Given the description of an element on the screen output the (x, y) to click on. 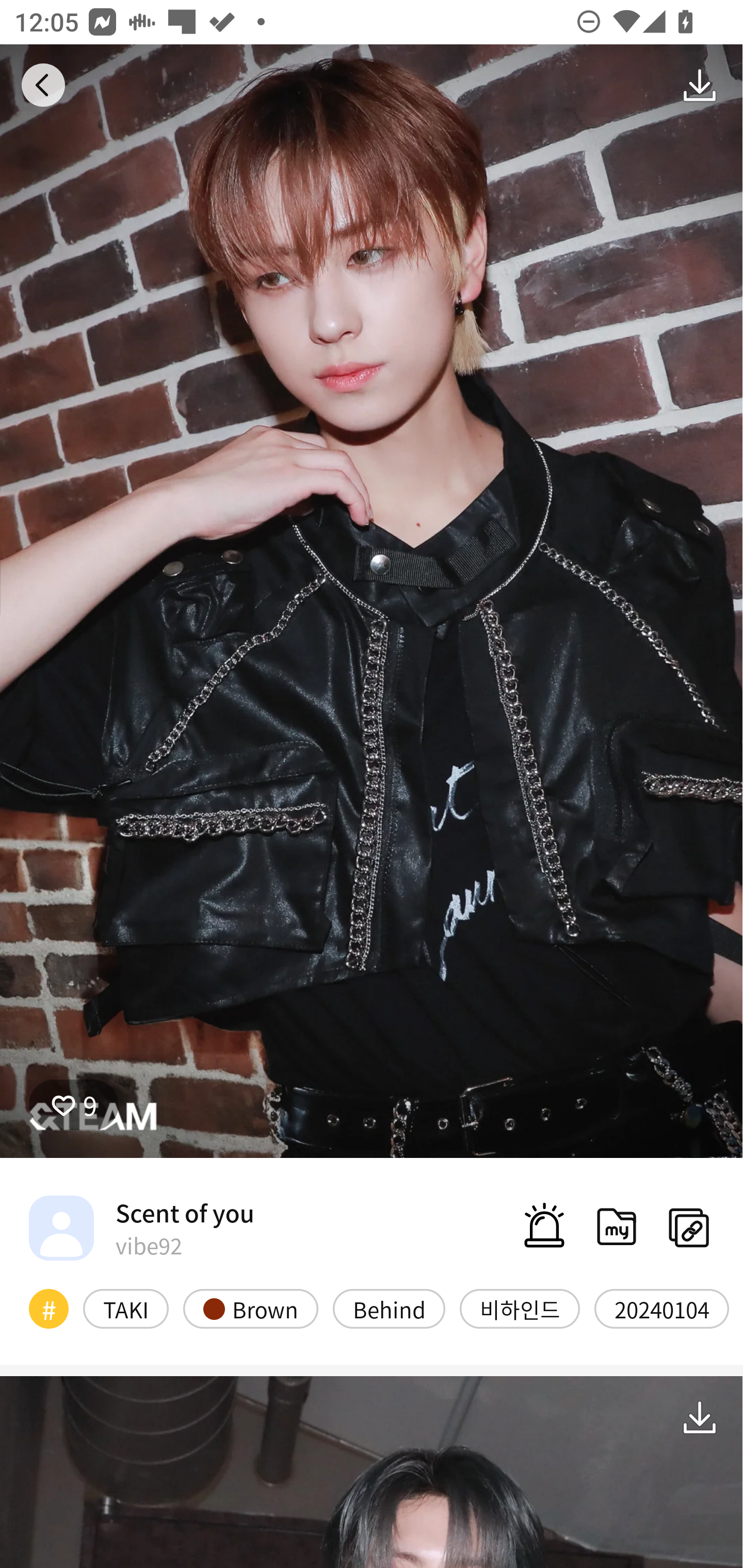
9 (73, 1104)
Scent of you vibe92 (141, 1227)
TAKI (125, 1308)
Brown (250, 1308)
Behind (388, 1308)
비하인드 (519, 1308)
20240104 (661, 1308)
